Given the description of an element on the screen output the (x, y) to click on. 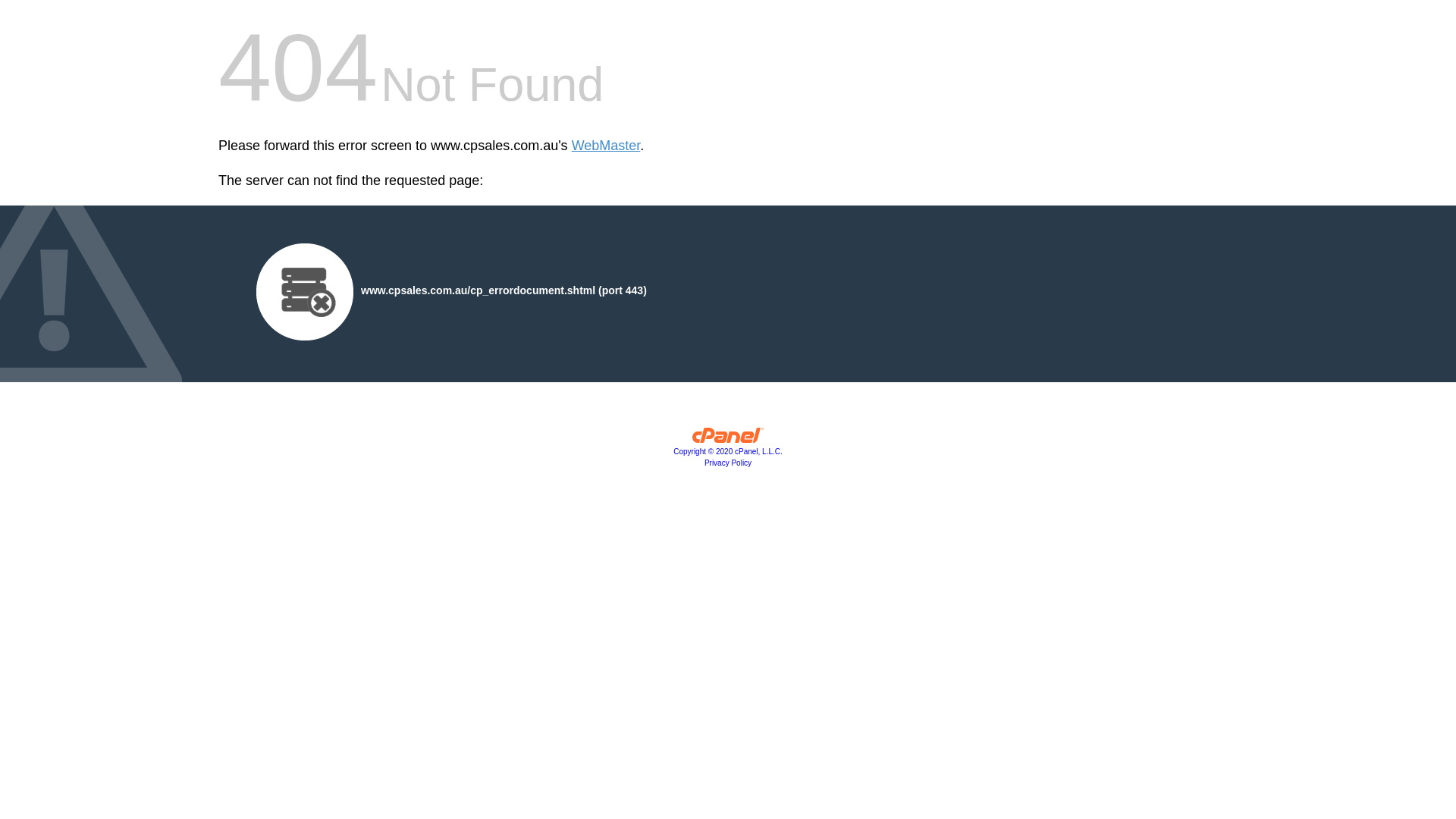
WebMaster Element type: text (605, 145)
Privacy Policy Element type: text (727, 462)
cPanel, Inc. Element type: hover (728, 439)
